Given the description of an element on the screen output the (x, y) to click on. 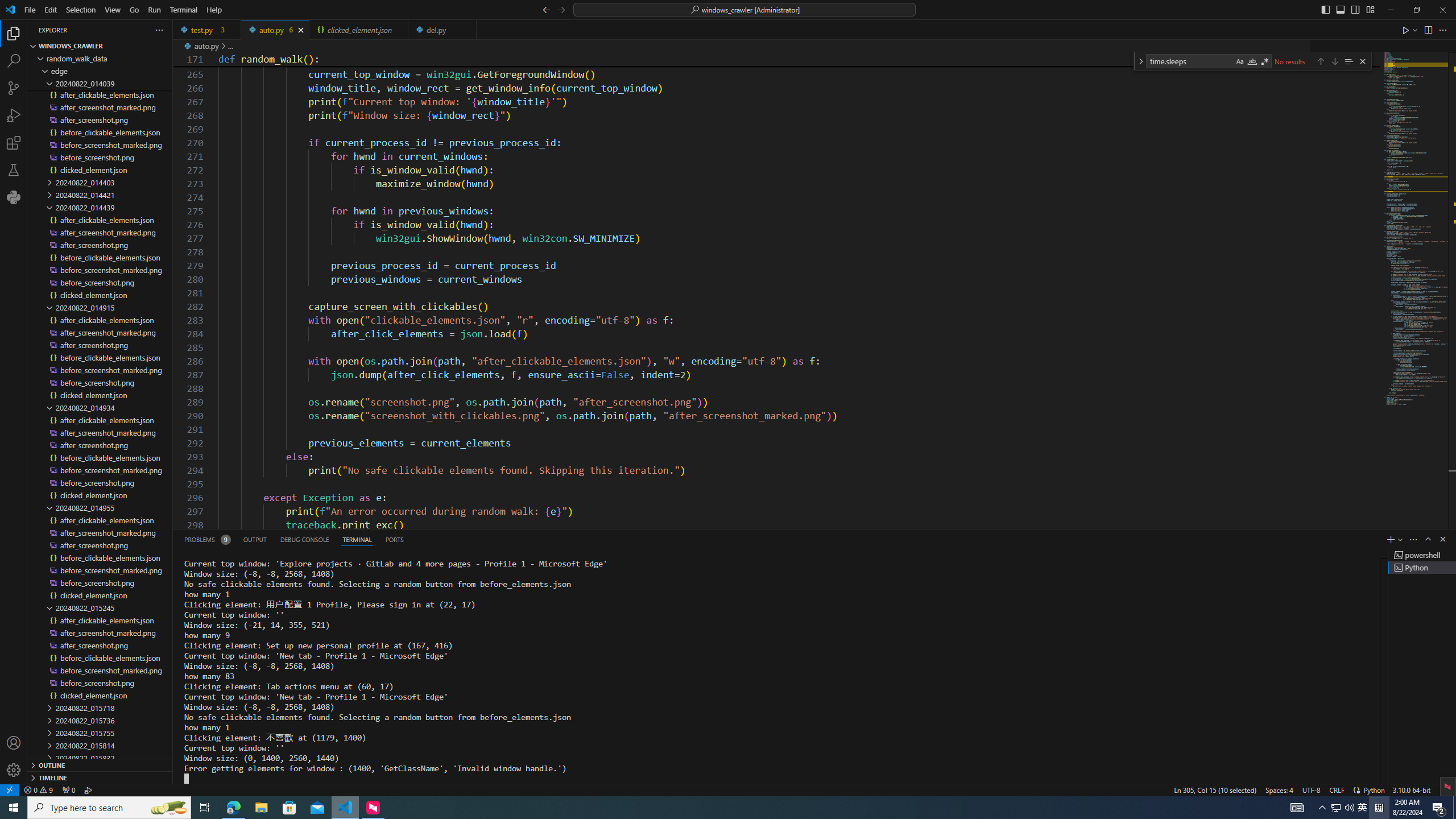
Toggle Primary Side Bar (Ctrl+B) (1325, 9)
No Ports Forwarded (68, 789)
Next Match (Enter) (1333, 60)
Warnings: 9 (37, 789)
Output (Ctrl+Shift+U) (254, 539)
